Given the description of an element on the screen output the (x, y) to click on. 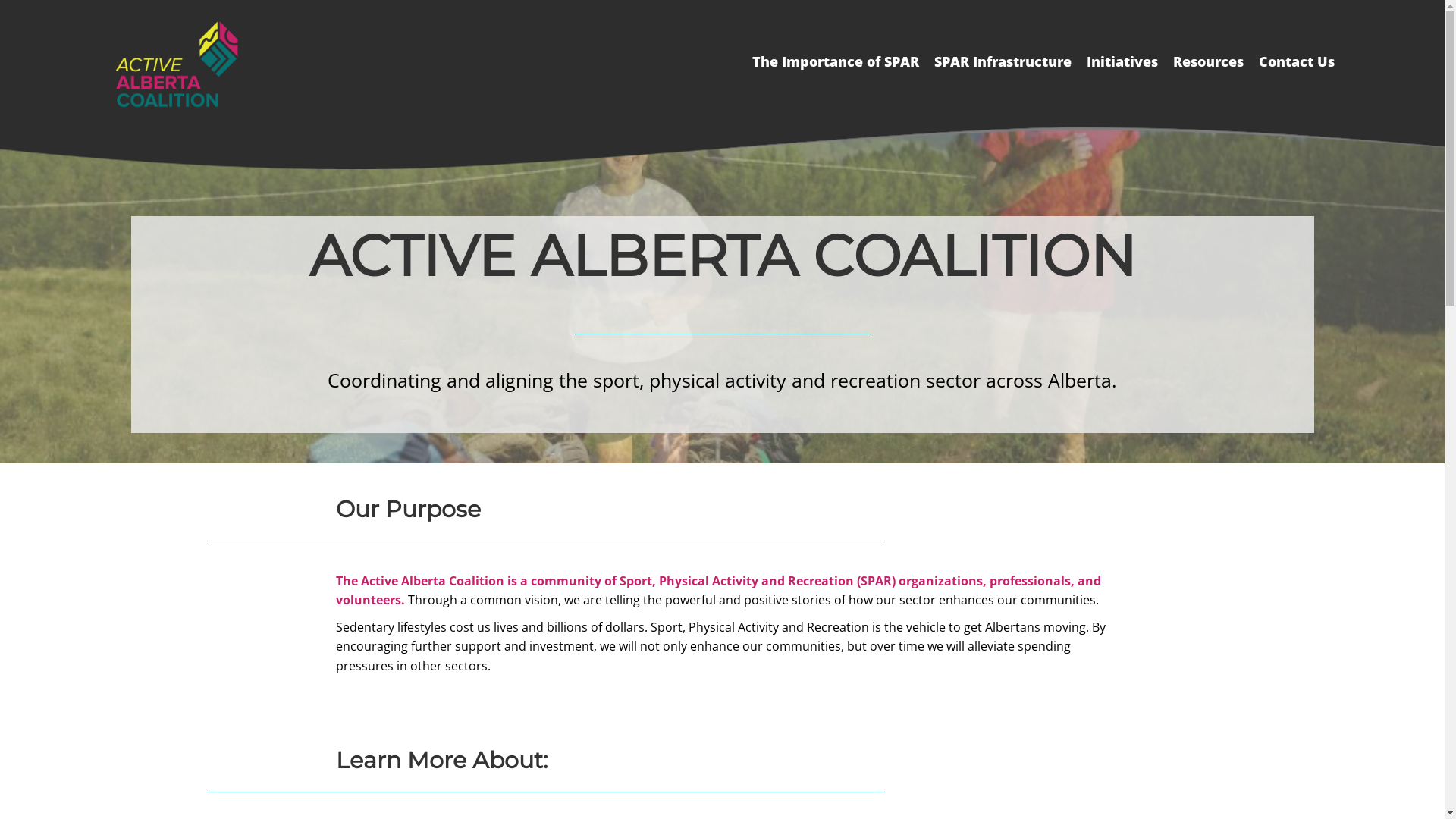
Contact Us Element type: text (1296, 61)
Initiatives Element type: text (1122, 61)
The Importance of SPAR Element type: text (835, 61)
Resources Element type: text (1208, 61)
SPAR Infrastructure Element type: text (1002, 61)
